Given the description of an element on the screen output the (x, y) to click on. 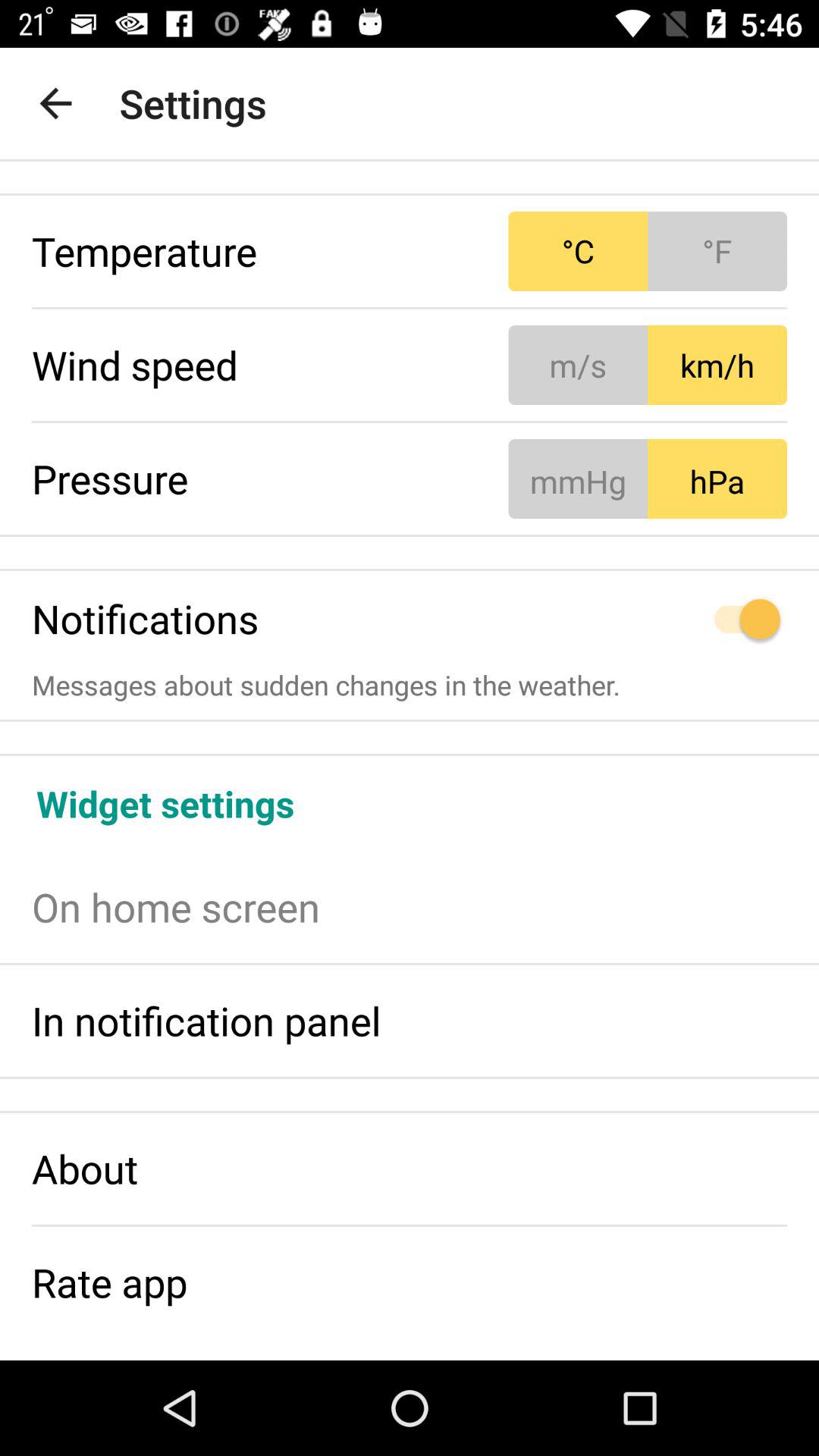
turn on item next to the temperature icon (647, 251)
